Given the description of an element on the screen output the (x, y) to click on. 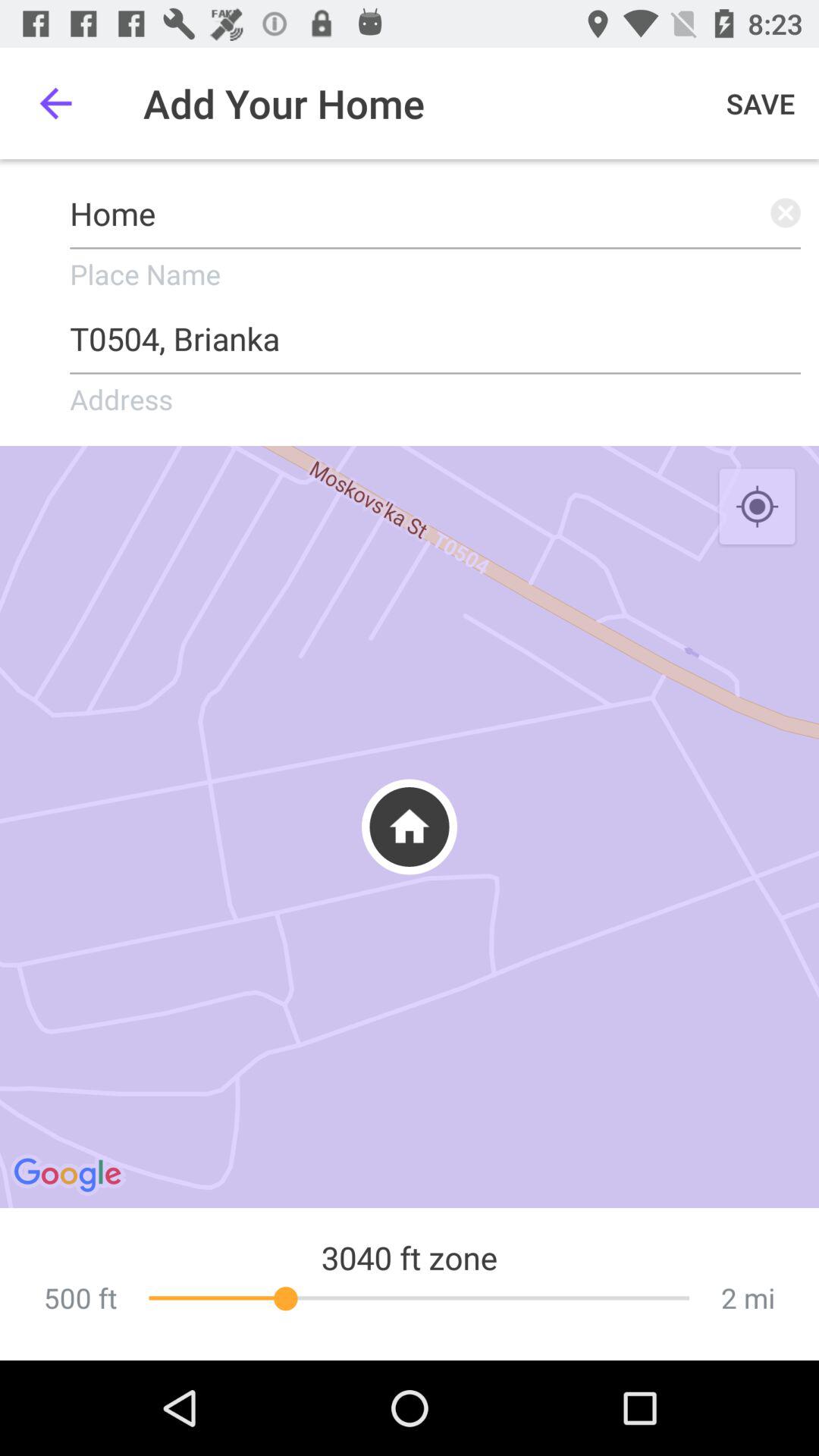
click icon below address item (409, 826)
